Given the description of an element on the screen output the (x, y) to click on. 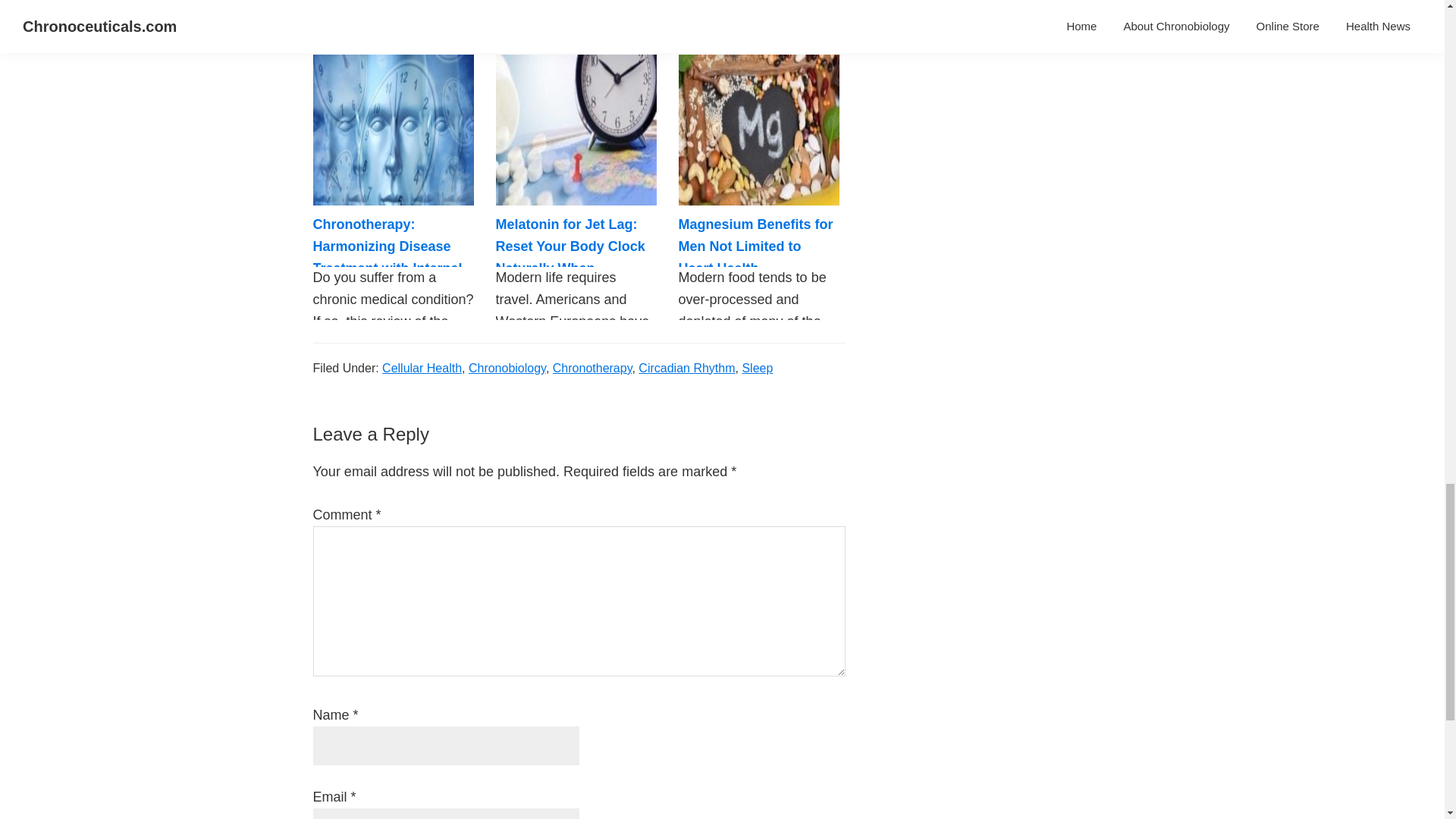
Sleep (757, 367)
Circadian Rhythm (687, 367)
Cellular Health (421, 367)
Chronotherapy (592, 367)
Magnesium Benefits for Men Not Limited to Heart Health (755, 246)
Chronobiology (507, 367)
